Given the description of an element on the screen output the (x, y) to click on. 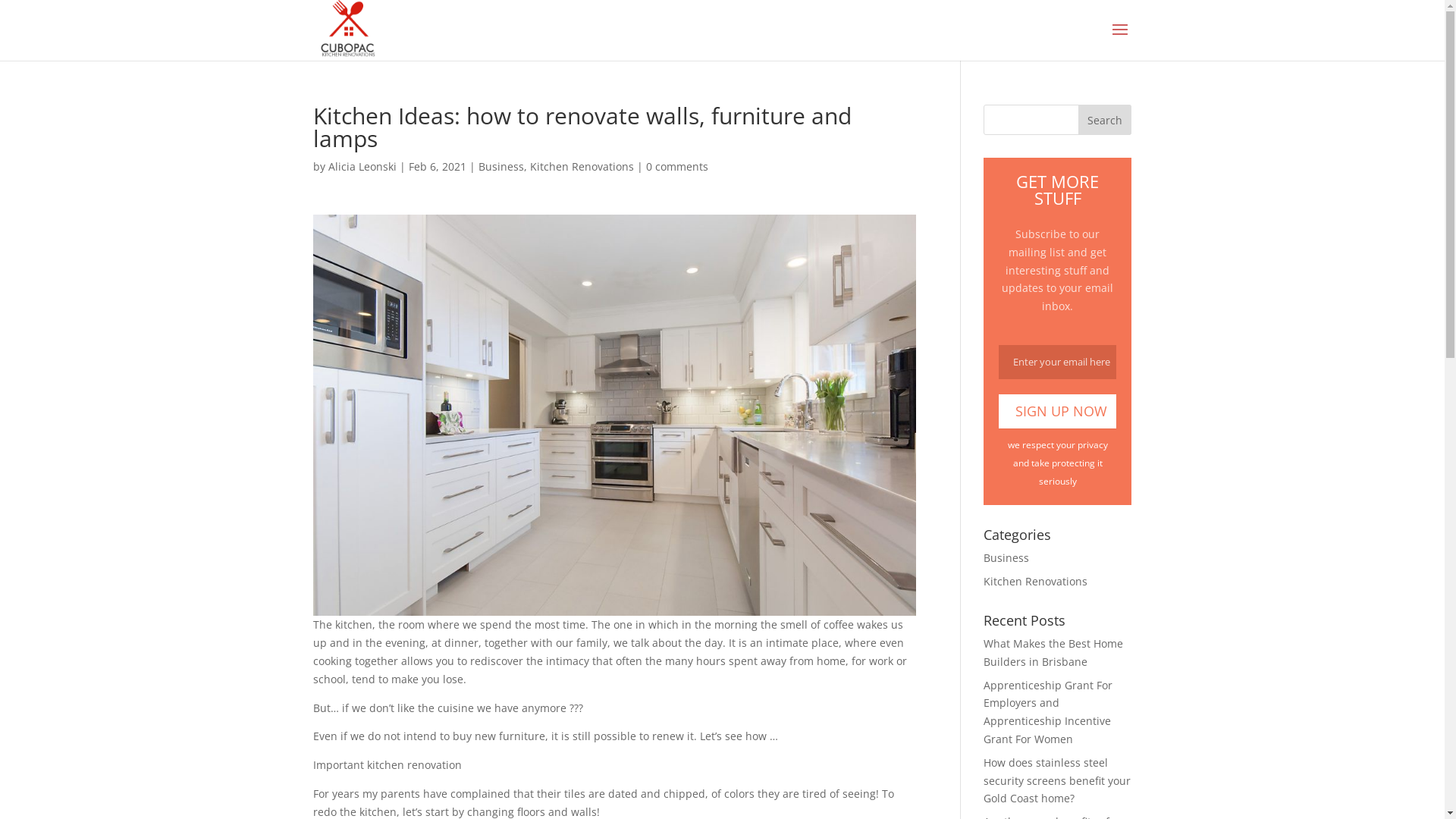
Kitchen Renovations Element type: text (581, 166)
Business Element type: text (1006, 557)
What Makes the Best Home Builders in Brisbane Element type: text (1053, 652)
Kitchen Renovations Element type: text (1035, 581)
0 comments Element type: text (677, 166)
Sign Up Now Element type: text (1057, 411)
Alicia Leonski Element type: text (361, 166)
Search Element type: text (1104, 119)
Business Element type: text (500, 166)
